Given the description of an element on the screen output the (x, y) to click on. 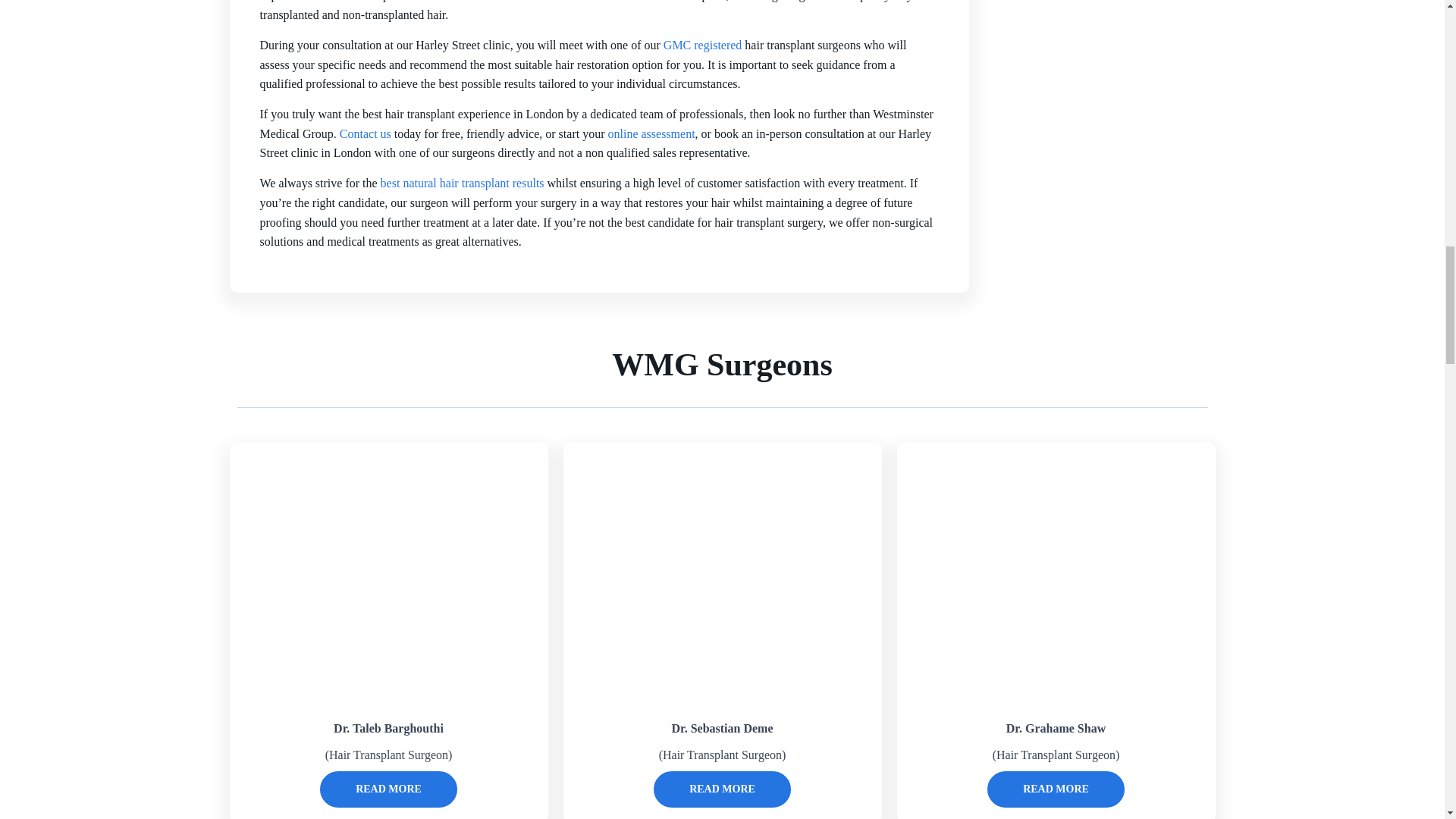
About WMG 4 (721, 577)
About WMG 5 (1055, 577)
About WMG 3 (387, 577)
